Given the description of an element on the screen output the (x, y) to click on. 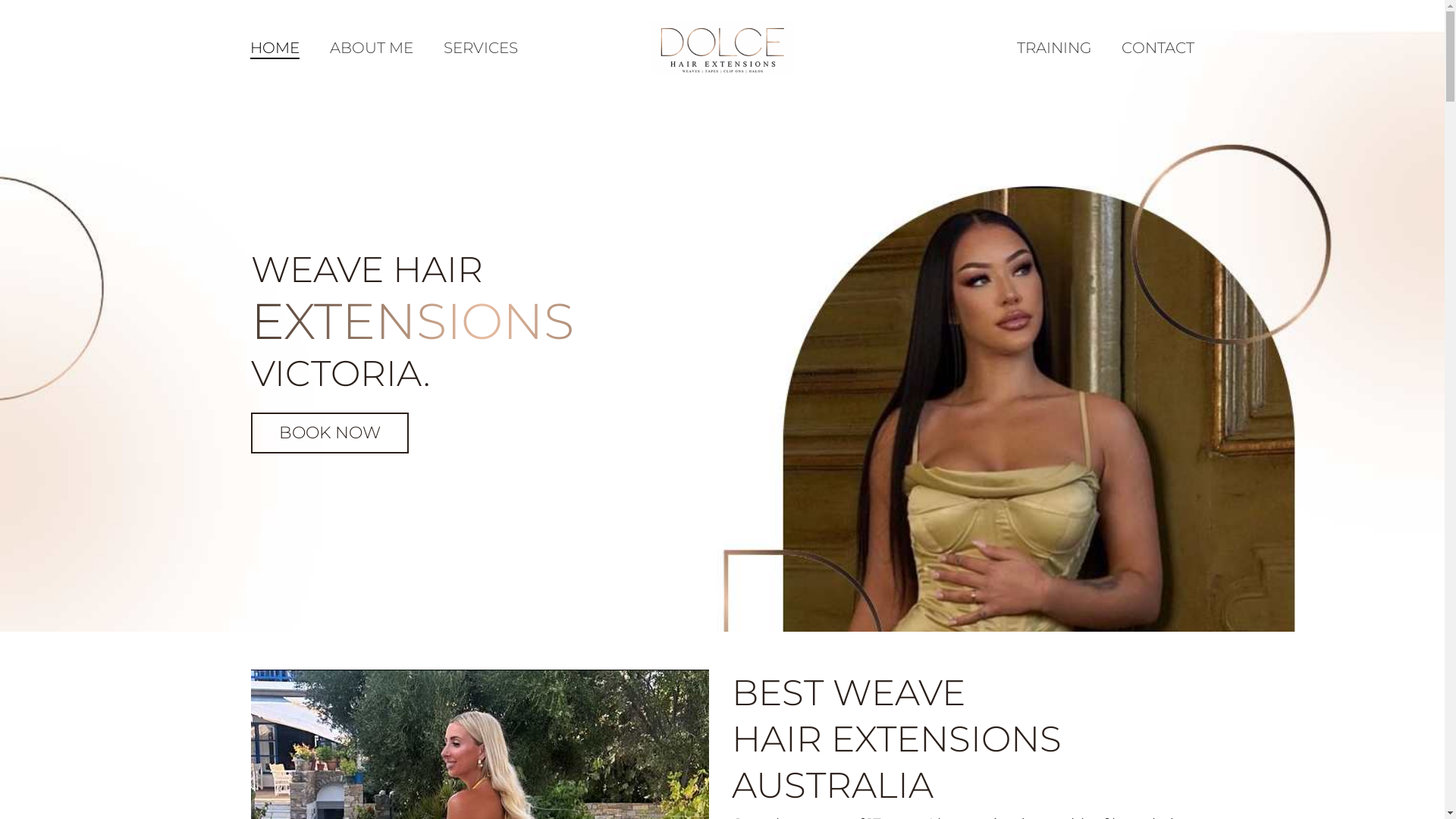
HOME Element type: text (274, 47)
CONTACT Element type: text (1157, 47)
SERVICES Element type: text (480, 47)
ABOUT ME Element type: text (371, 47)
TRAINING Element type: text (1053, 47)
BOOK NOW Element type: text (328, 432)
